Given the description of an element on the screen output the (x, y) to click on. 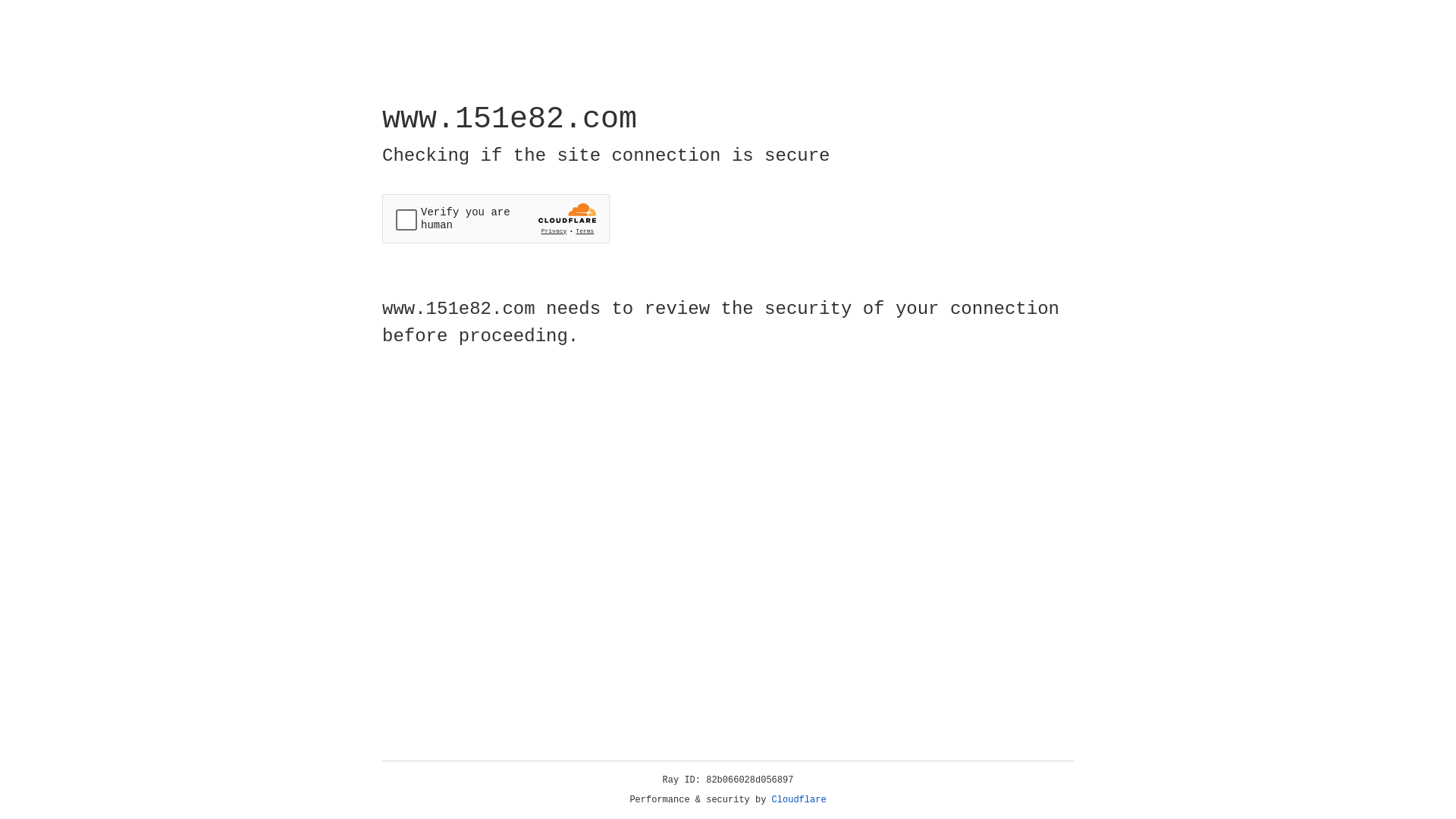
Cloudflare Element type: text (798, 799)
Widget containing a Cloudflare security challenge Element type: hover (495, 218)
